Given the description of an element on the screen output the (x, y) to click on. 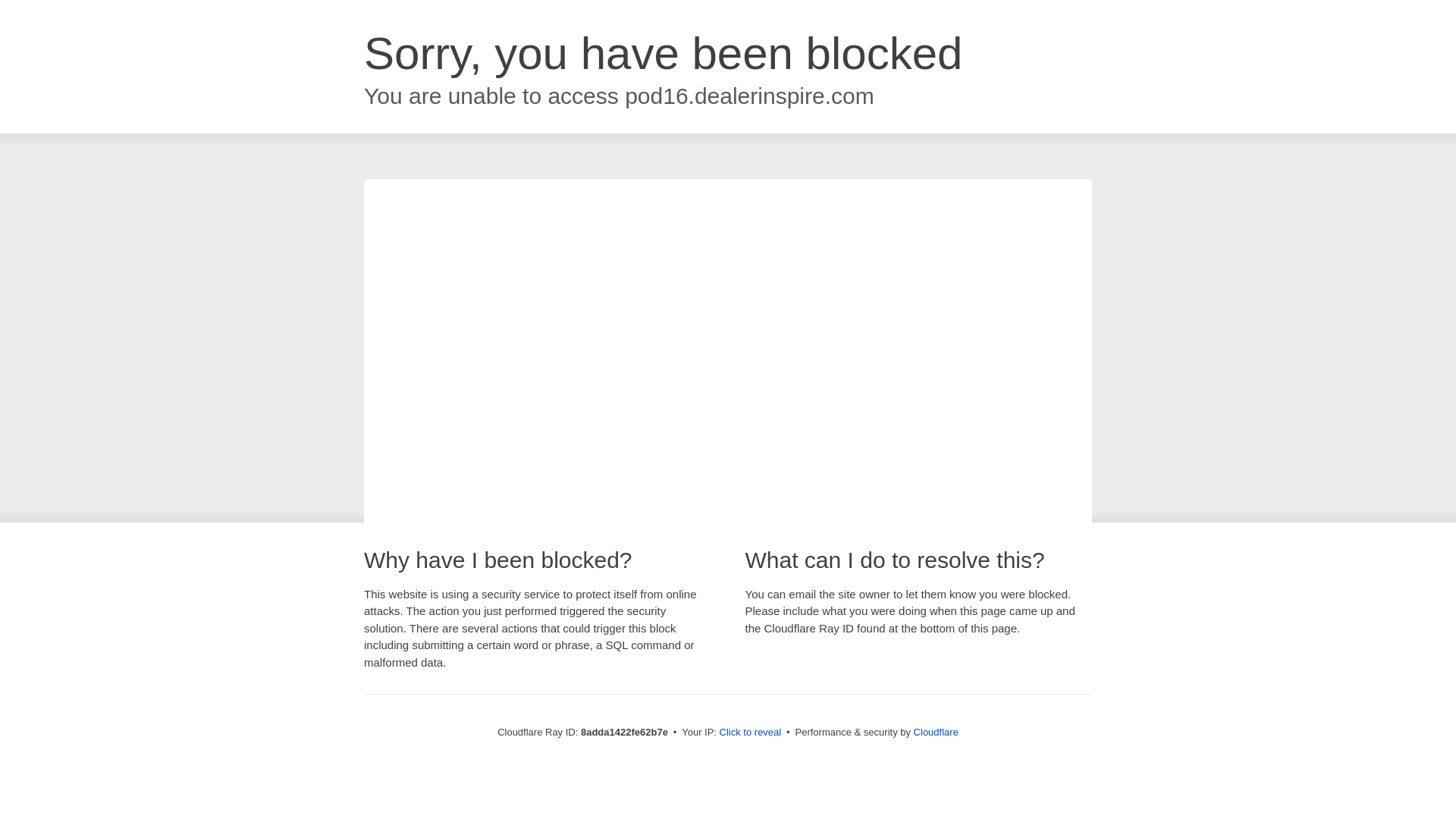
Click to reveal (750, 732)
Cloudflare (936, 731)
